Given the description of an element on the screen output the (x, y) to click on. 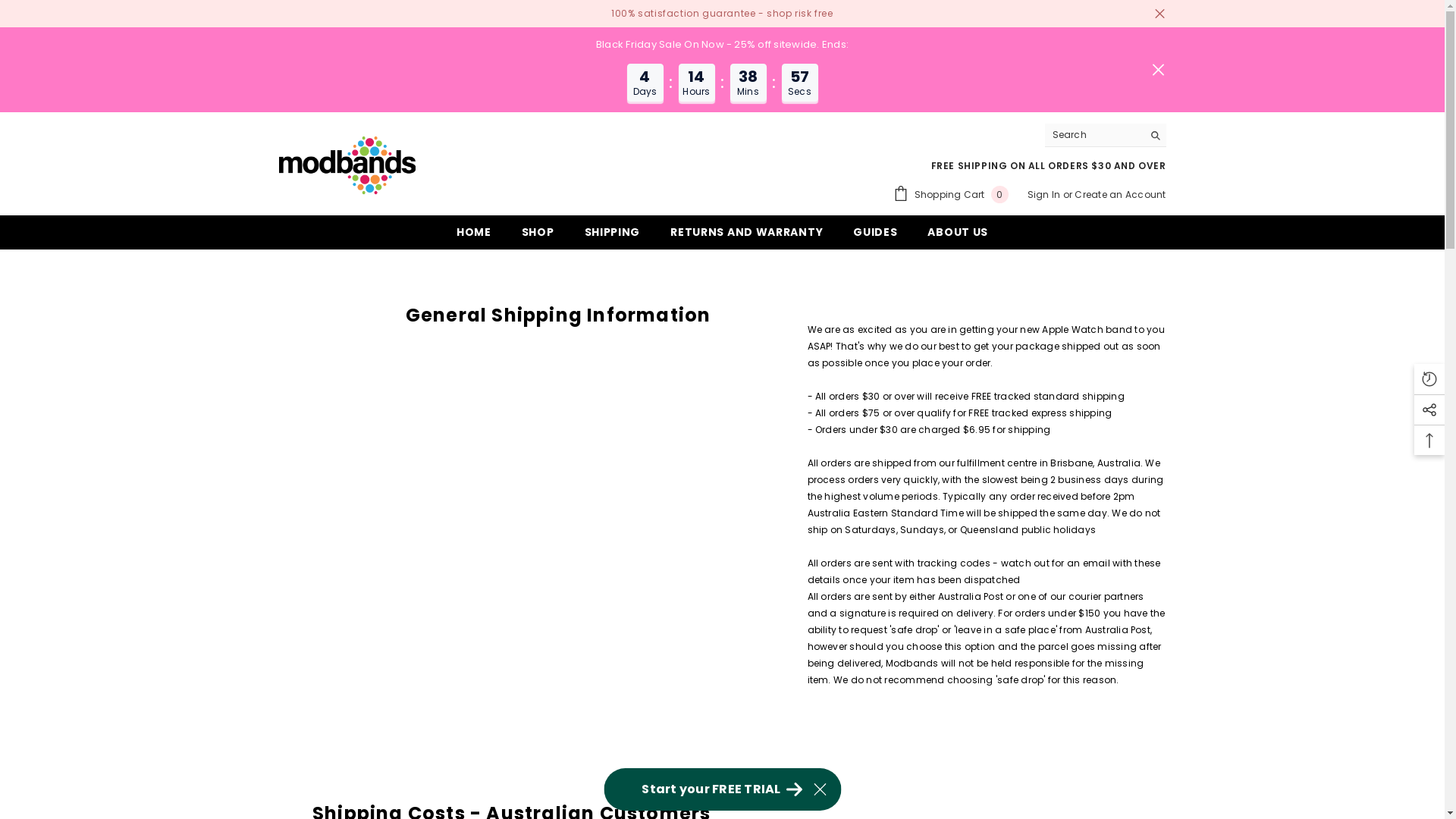
HOME Element type: text (473, 236)
ABOUT US Element type: text (957, 236)
Create an Account Element type: text (1119, 194)
SHIPPING Element type: text (612, 236)
Shopping Cart 0
0 items Element type: text (950, 194)
SHOP Element type: text (537, 236)
Close Element type: text (1158, 13)
GUIDES Element type: text (874, 236)
Close Element type: text (1157, 70)
Sign In Element type: text (1043, 194)
RETURNS AND WARRANTY Element type: text (746, 236)
